Given the description of an element on the screen output the (x, y) to click on. 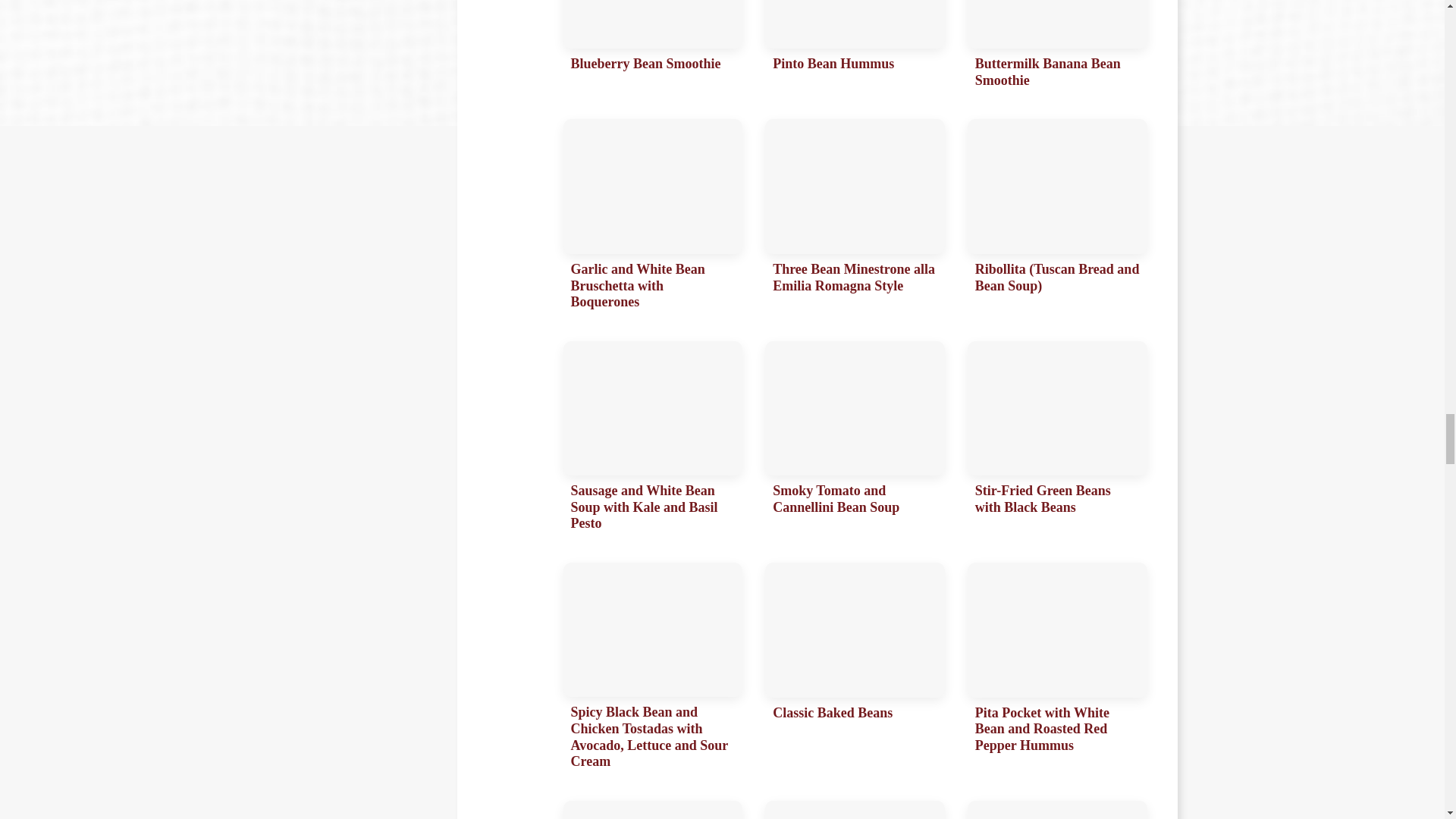
Three Bean Minestrone alla Emilia Romagna Style (854, 217)
Blueberry Bean Smoothie (652, 48)
Pinto Bean and Quinoa Burger with Sriracha Mayonnaise (652, 809)
Indian Spiced Black Bean Burgers (854, 809)
Pinto Bean Hummus (854, 48)
Sausage and White Bean Soup with Kale and Basil Pesto (652, 440)
Smoky Tomato and Cannellini Bean Soup (854, 440)
Tuscan Bean Salad with Grilled Mushrooms (1057, 809)
Stir-Fried Green Beans with Black Beans (1057, 440)
Buttermilk Banana Bean Smoothie (1057, 48)
